Given the description of an element on the screen output the (x, y) to click on. 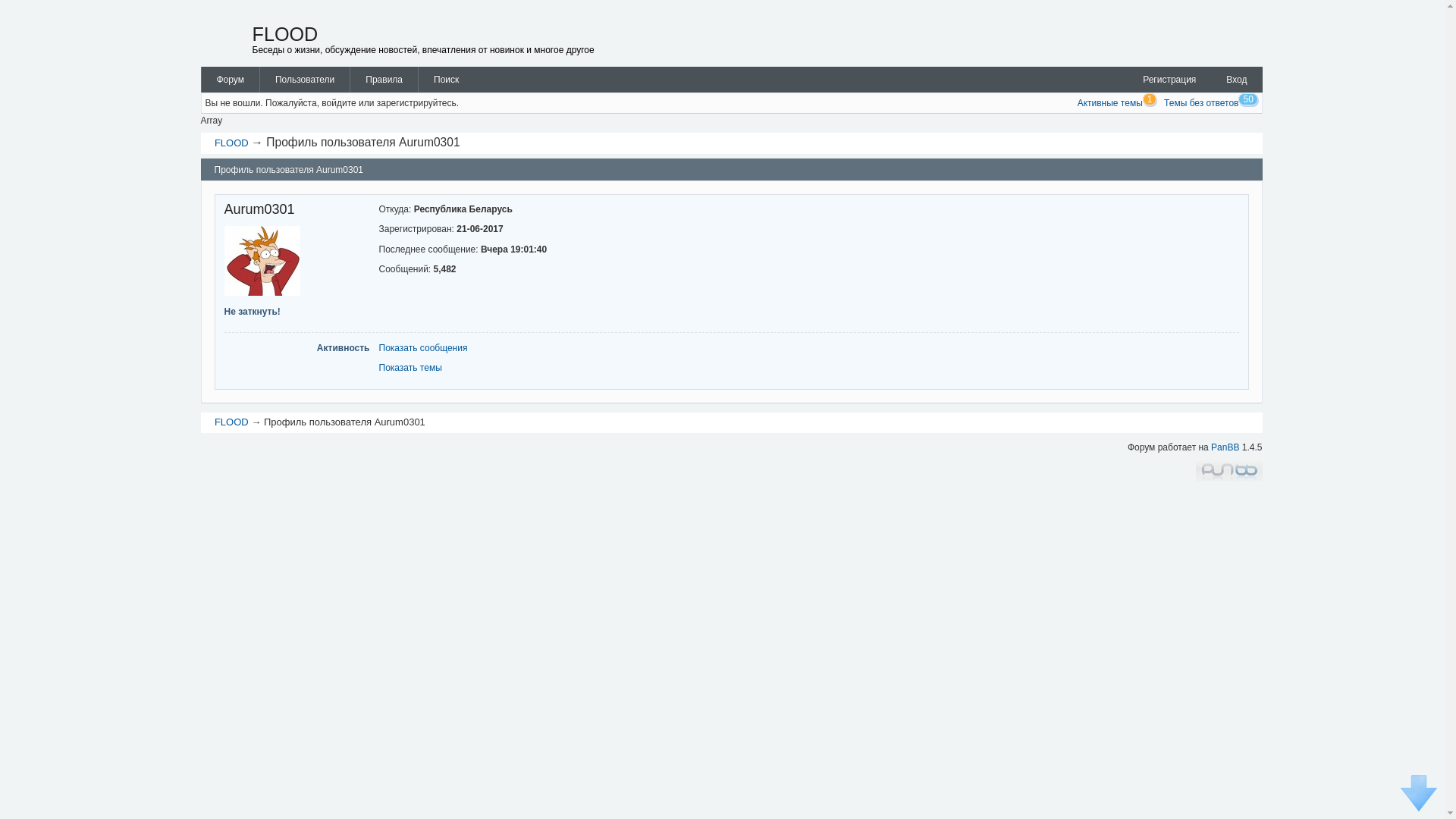
PanBB Element type: text (1225, 447)
FLOOD Element type: hover (223, 40)
FLOOD Element type: text (231, 421)
FLOOD Element type: text (231, 142)
FLOOD Element type: text (284, 33)
